Given the description of an element on the screen output the (x, y) to click on. 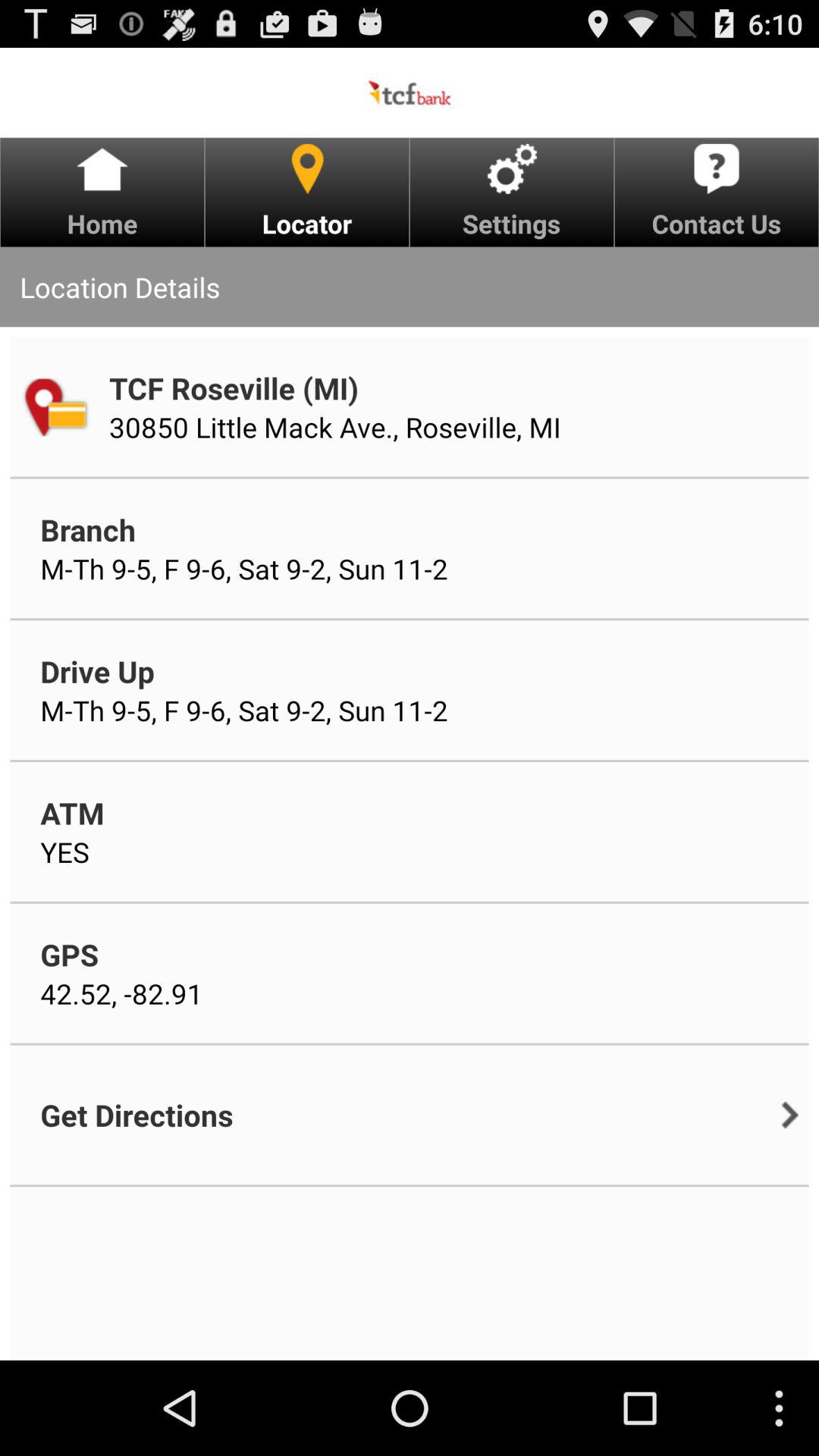
press app below 42 52 82 icon (136, 1114)
